Given the description of an element on the screen output the (x, y) to click on. 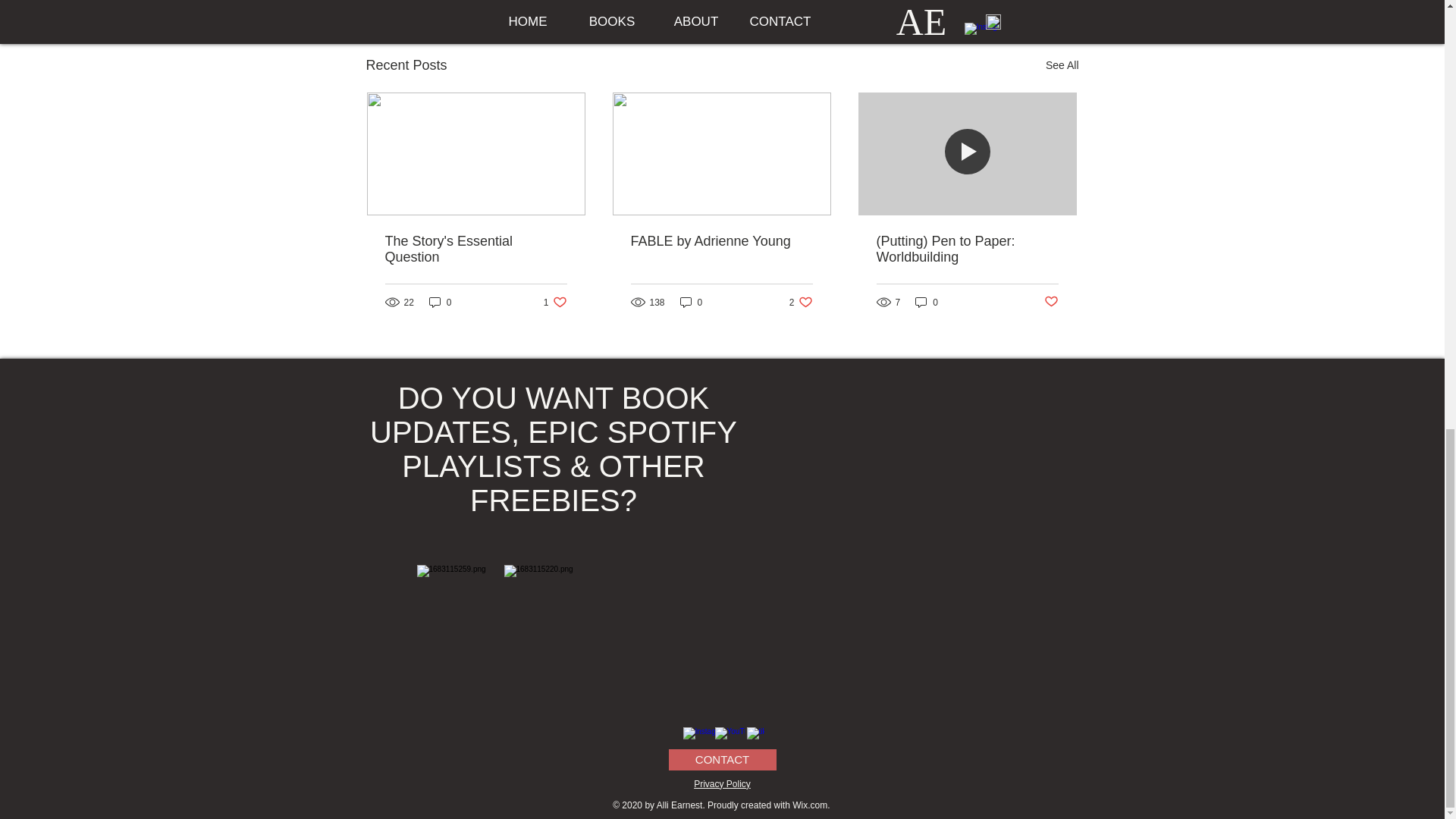
See All (1061, 65)
The Story's Essential Question (476, 249)
0 (440, 301)
0 (926, 301)
FABLE by Adrienne Young (800, 301)
0 (721, 241)
